Given the description of an element on the screen output the (x, y) to click on. 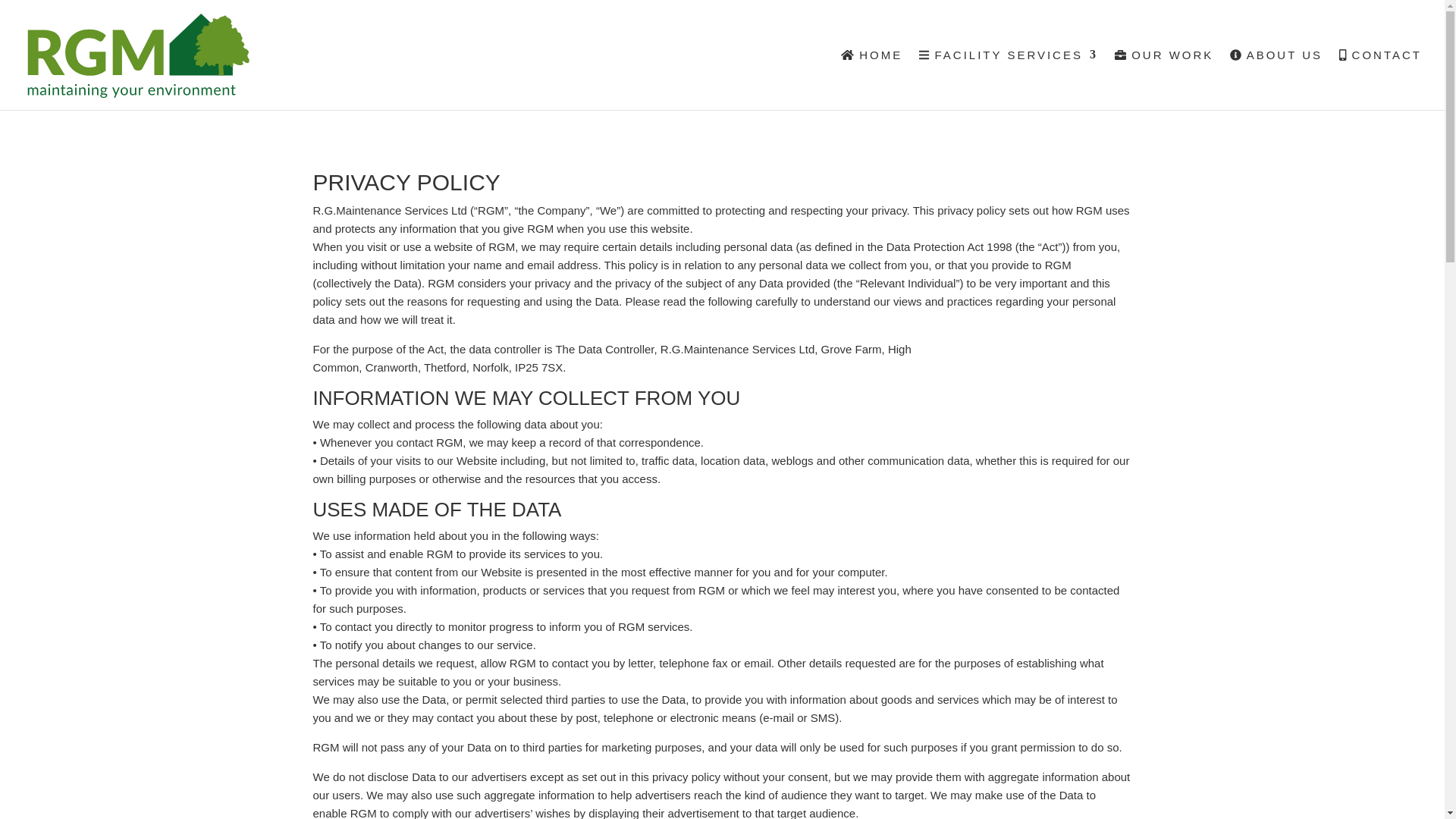
ABOUT US (1276, 79)
FACILITY SERVICES (1007, 79)
HOME (871, 79)
OUR WORK (1163, 79)
CONTACT (1380, 79)
